Given the description of an element on the screen output the (x, y) to click on. 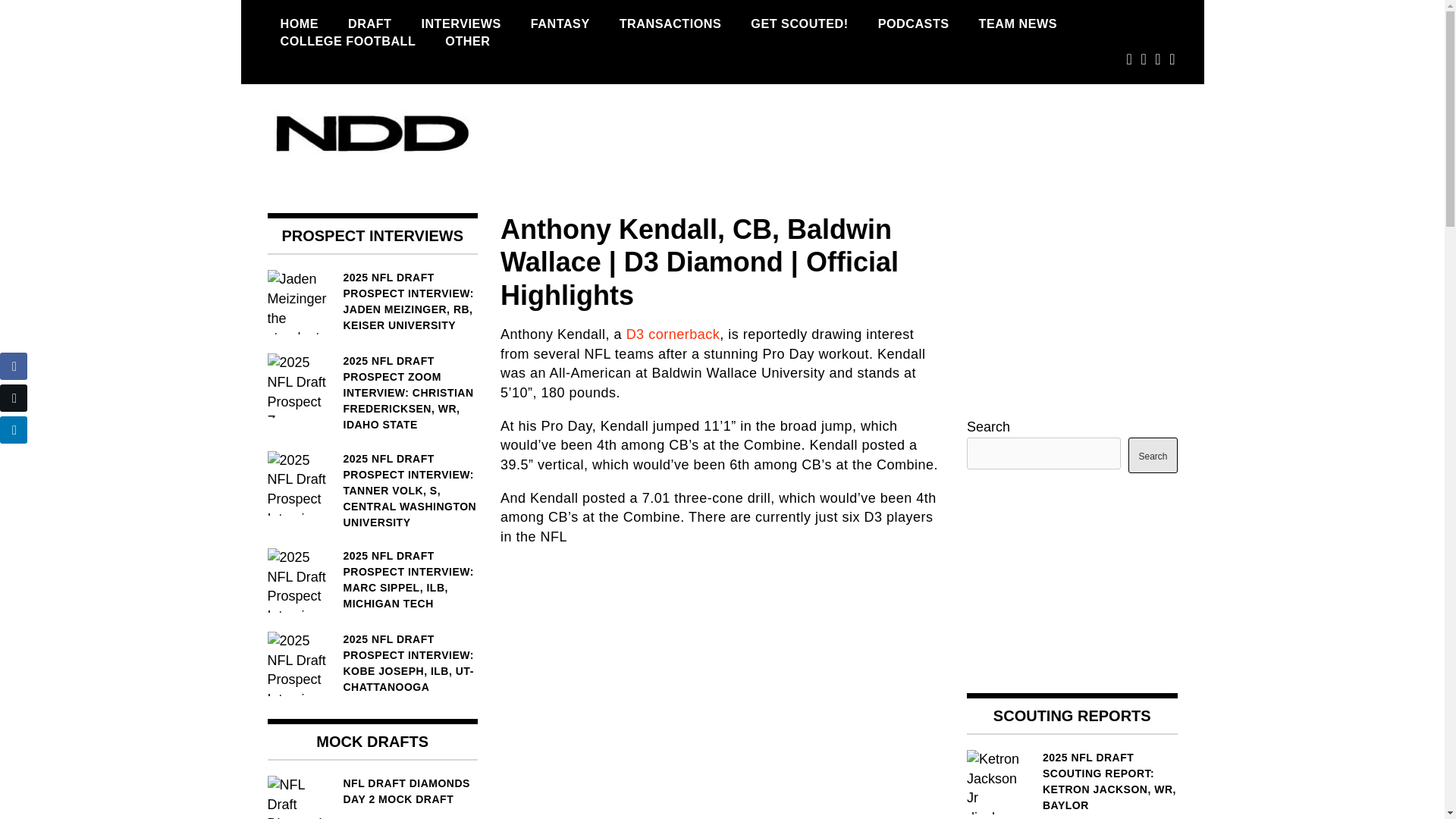
GET SCOUTED! (799, 23)
TRANSACTIONS (670, 23)
PODCASTS (913, 23)
FANTASY (560, 23)
TEAM NEWS (1018, 23)
DRAFT (369, 23)
HOME (298, 23)
INTERVIEWS (460, 23)
